Given the description of an element on the screen output the (x, y) to click on. 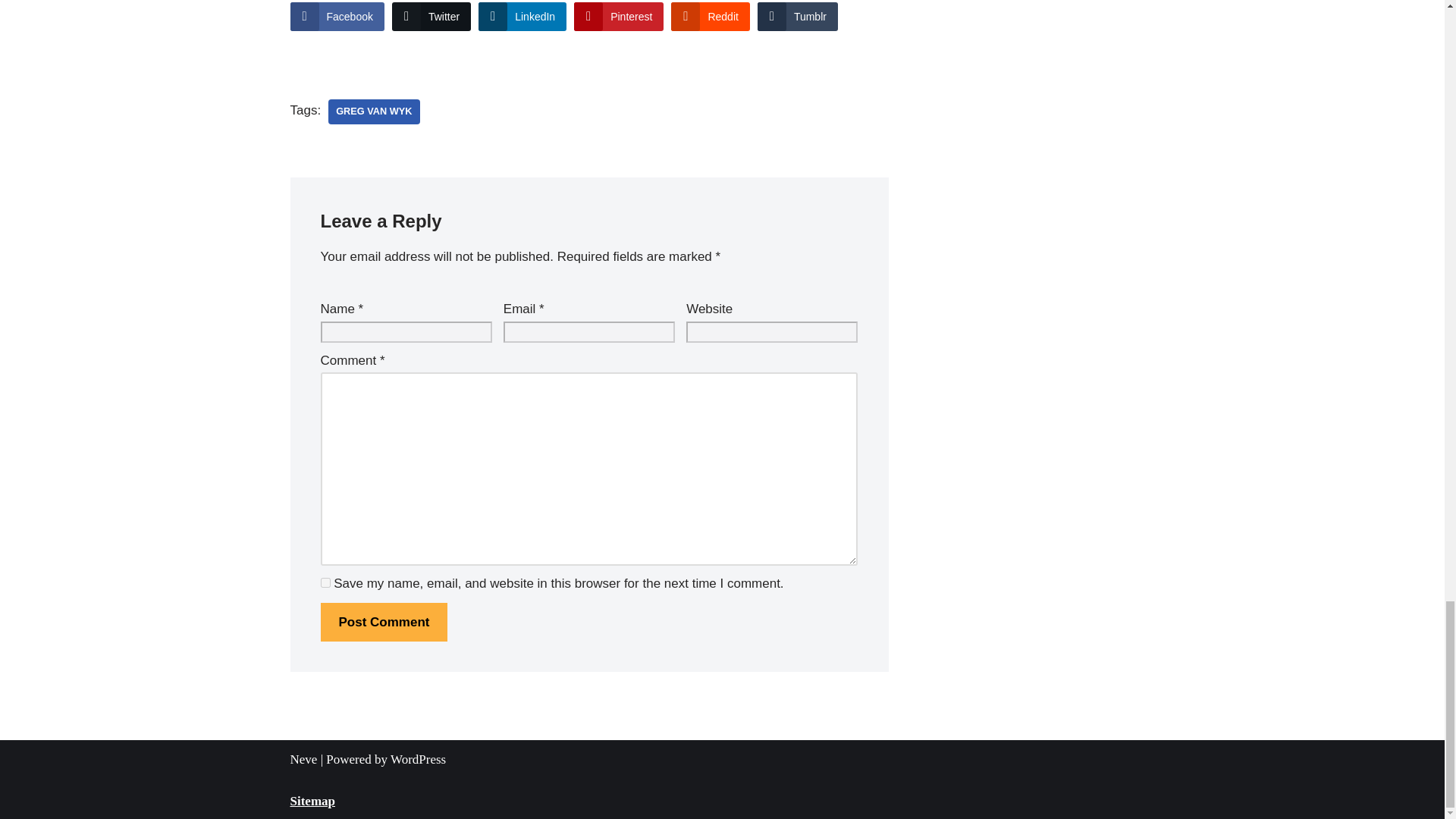
Post Comment (383, 621)
GREG VAN WYK (374, 111)
Twitter (430, 16)
LinkedIn (522, 16)
WordPress (417, 759)
Greg Van Wyk (374, 111)
Post Comment (383, 621)
Neve (303, 759)
yes (325, 583)
Reddit (710, 16)
Tumblr (797, 16)
Facebook (336, 16)
Pinterest (618, 16)
